Given the description of an element on the screen output the (x, y) to click on. 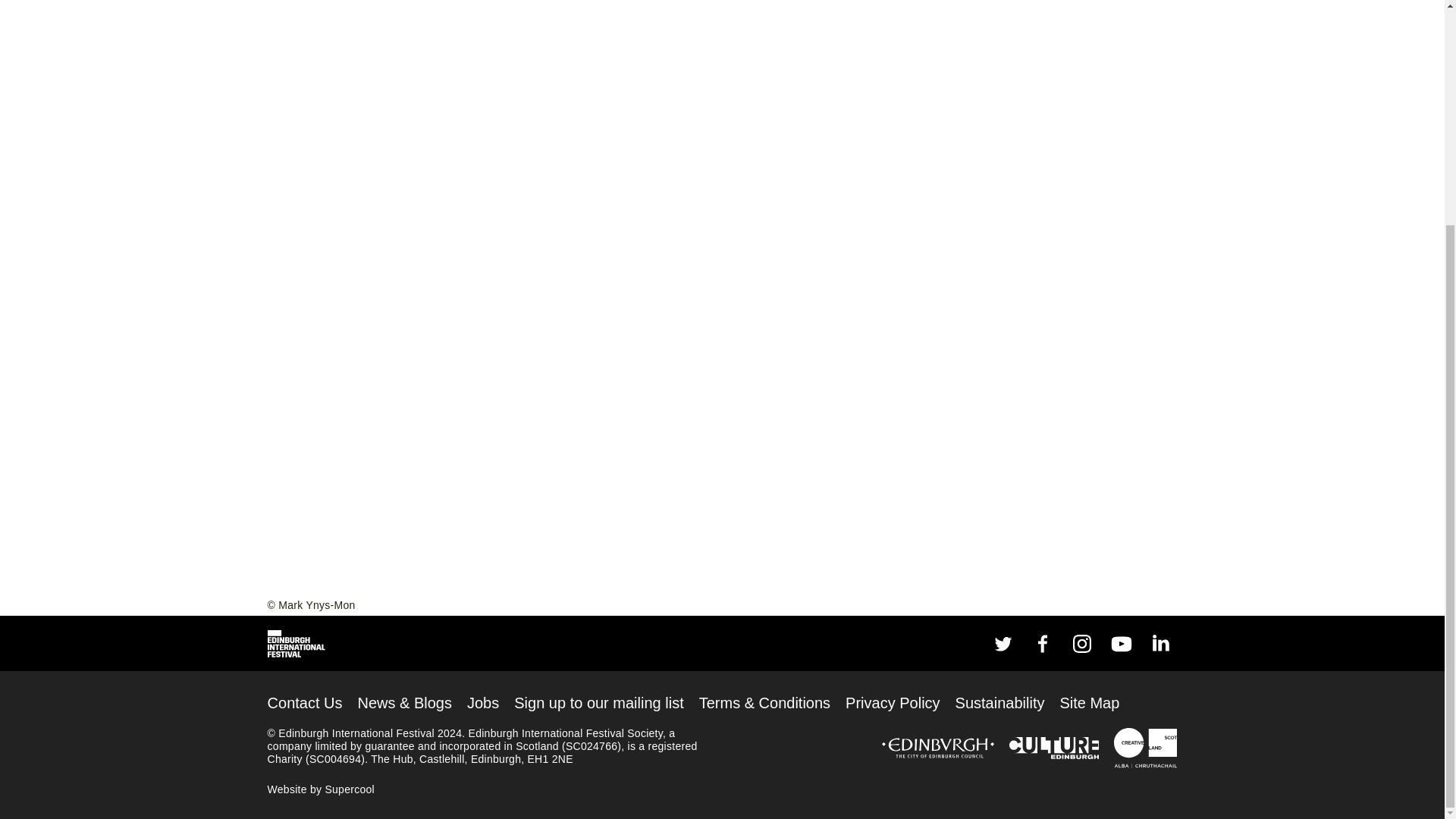
Twitter (1003, 643)
YouTube (1121, 643)
Facebook (1042, 643)
Edinburgh International Festival (295, 643)
Instagram (1081, 643)
